Given the description of an element on the screen output the (x, y) to click on. 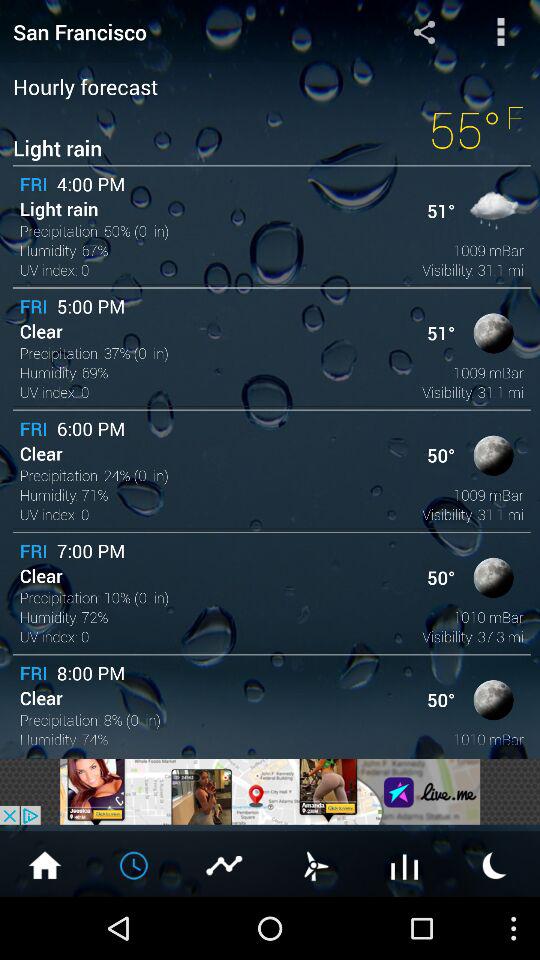
share the page (424, 31)
